Given the description of an element on the screen output the (x, y) to click on. 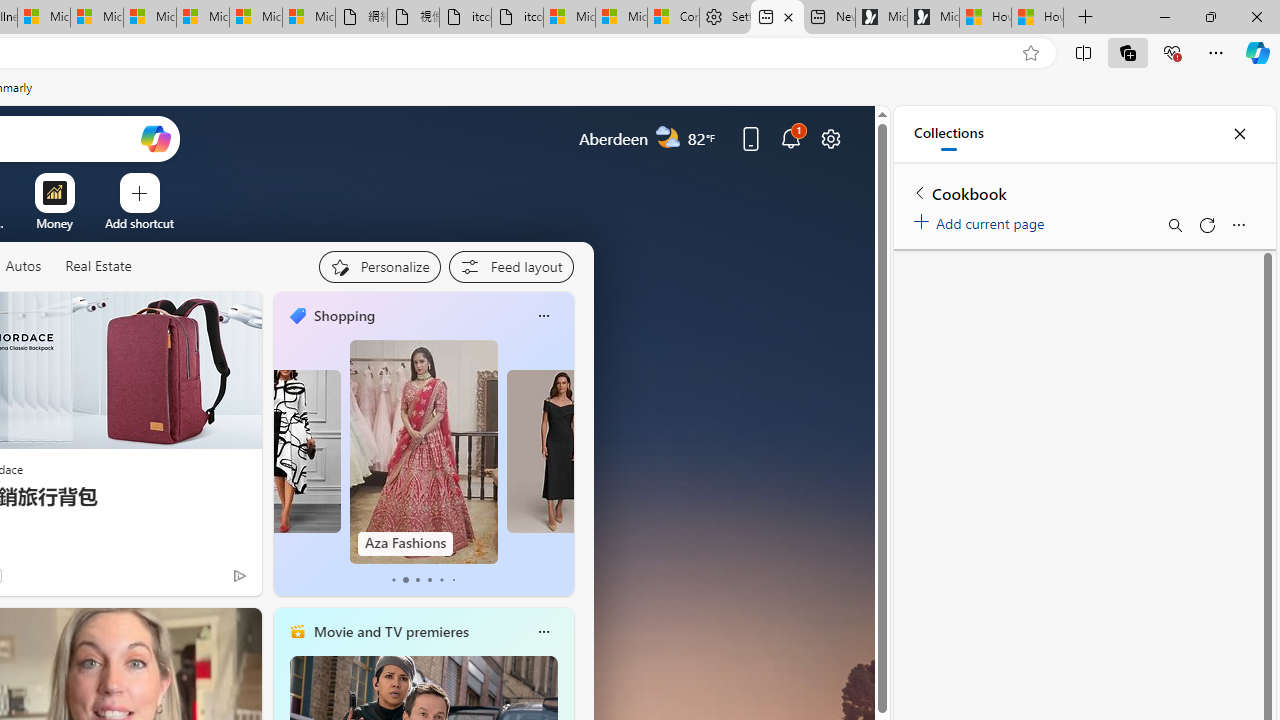
Consumer Health Data Privacy Policy (672, 17)
More options menu (1238, 224)
tab-0 (392, 579)
Add a site (139, 223)
Real Estate (97, 267)
Back to list of collections (920, 192)
Add current page (982, 219)
tab-3 (429, 579)
